Given the description of an element on the screen output the (x, y) to click on. 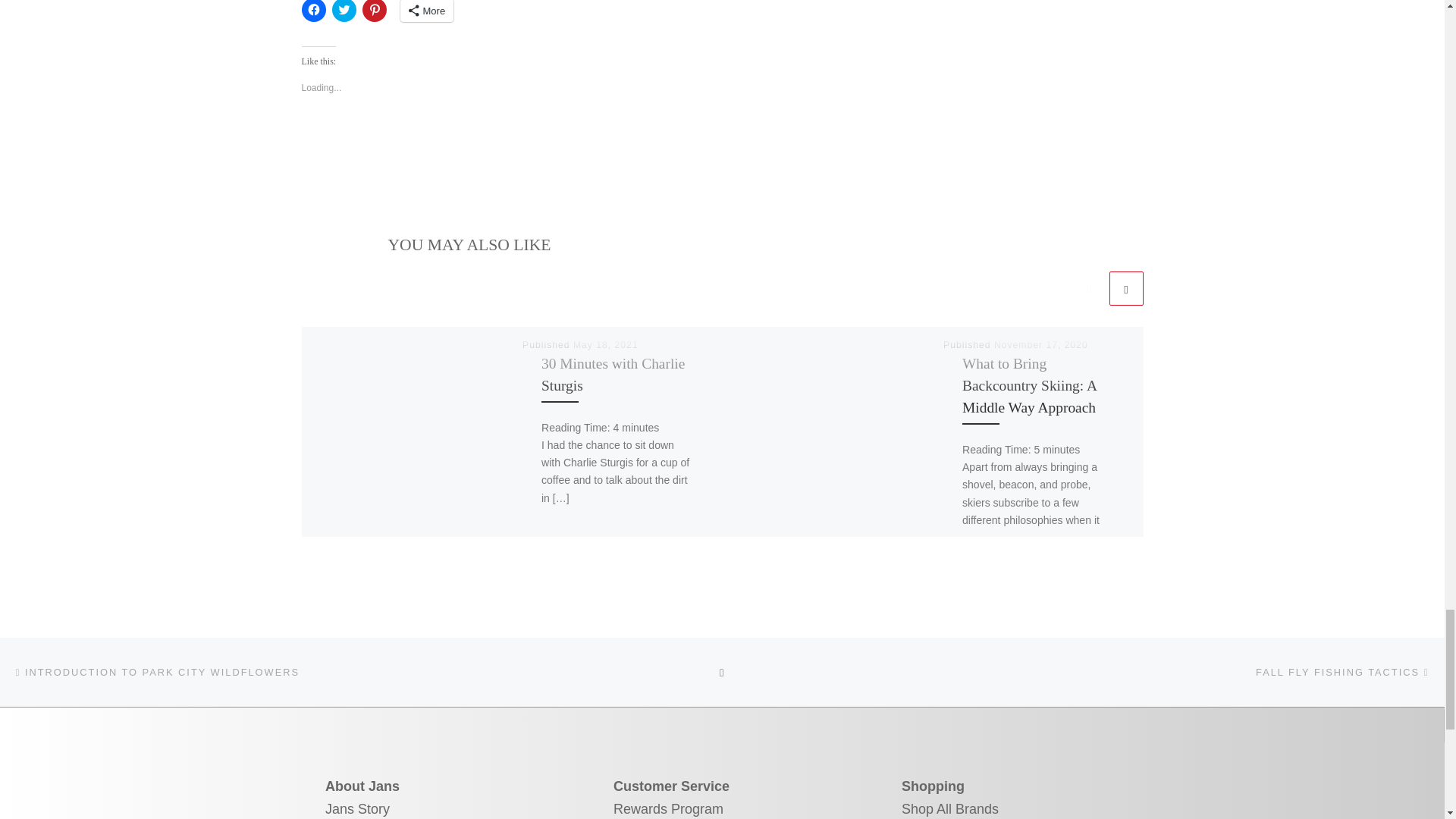
More (427, 11)
